Given the description of an element on the screen output the (x, y) to click on. 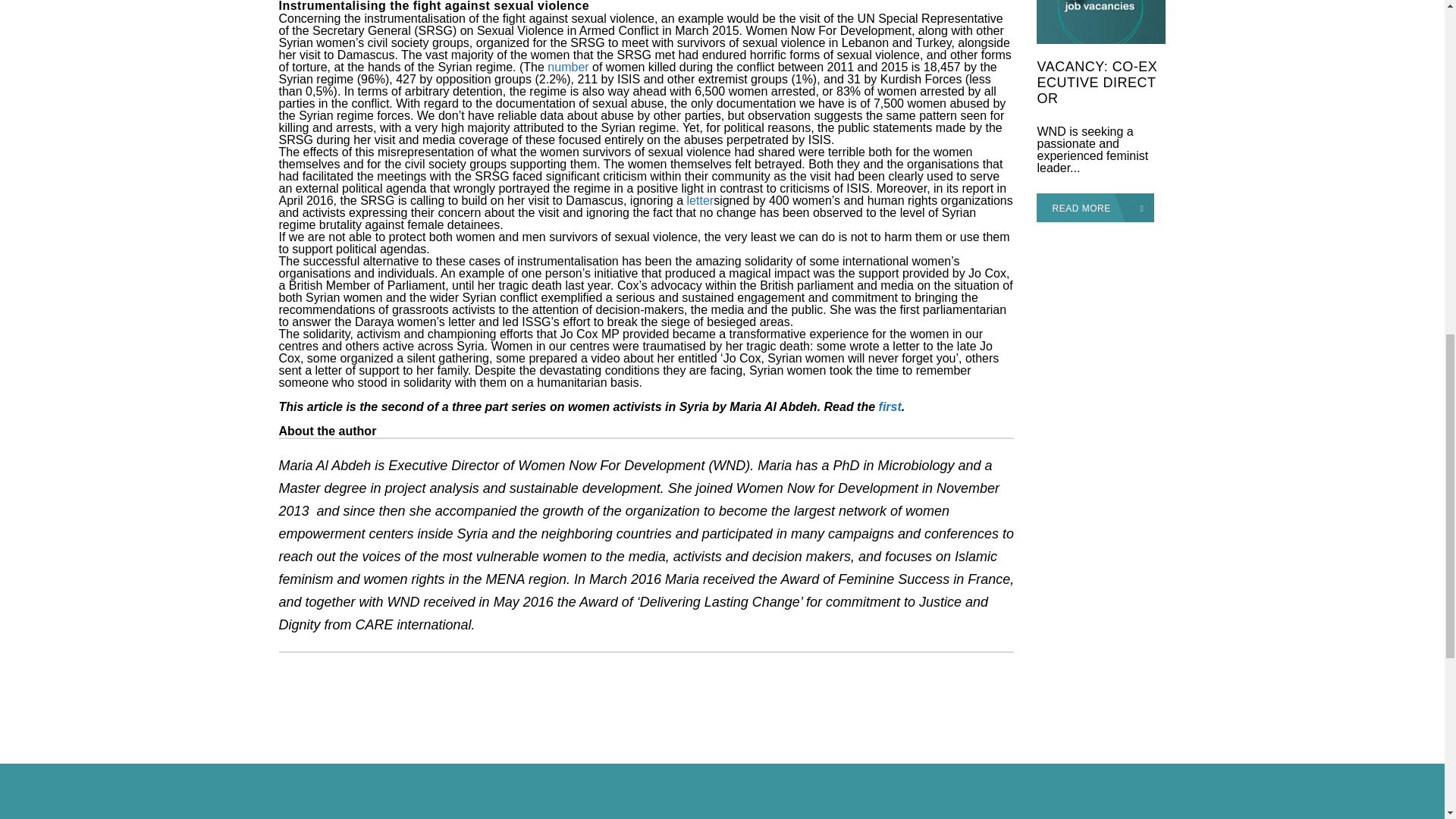
letter (700, 200)
first (890, 406)
number (567, 66)
